Given the description of an element on the screen output the (x, y) to click on. 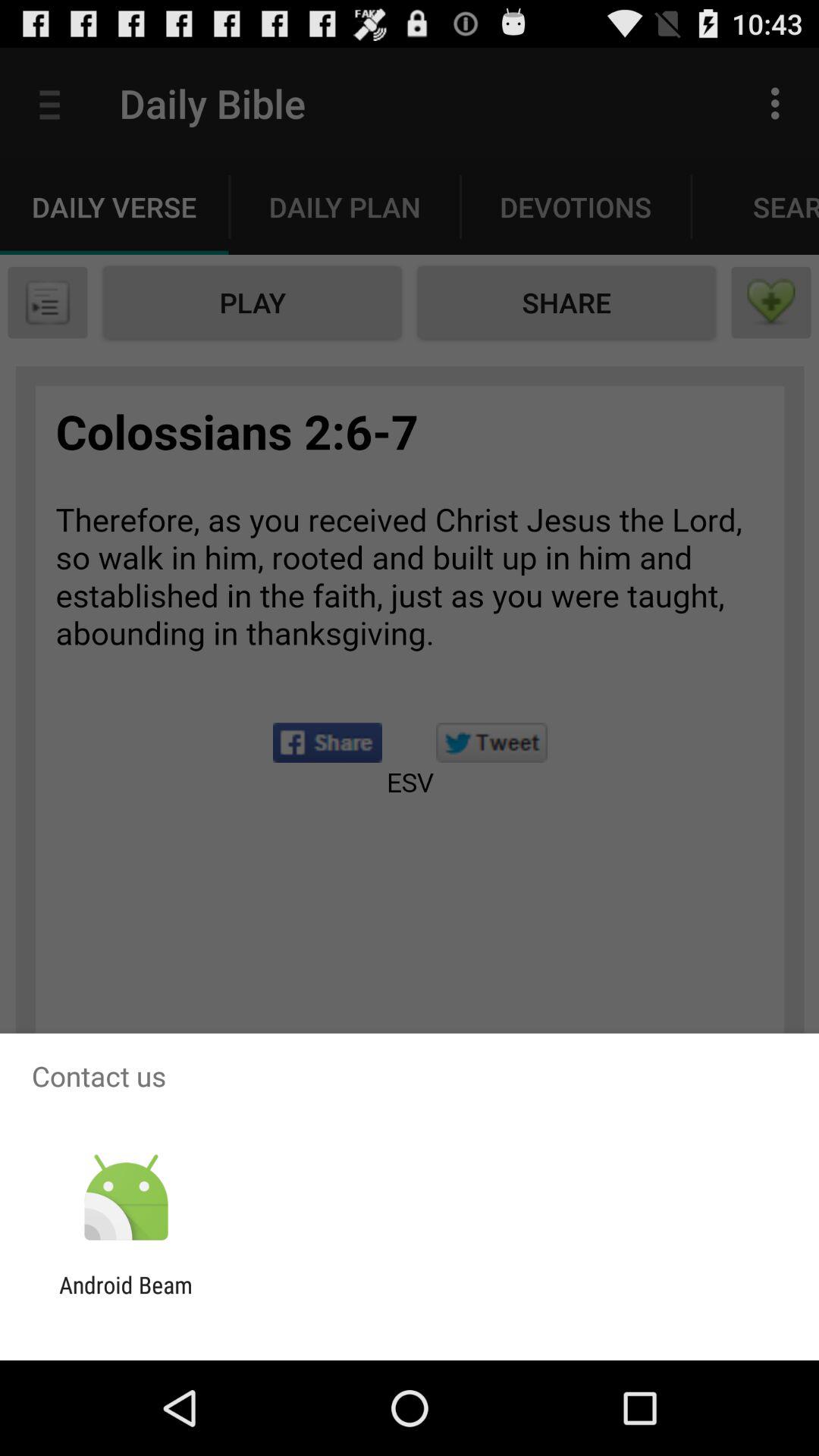
select the item above the android beam app (126, 1198)
